Given the description of an element on the screen output the (x, y) to click on. 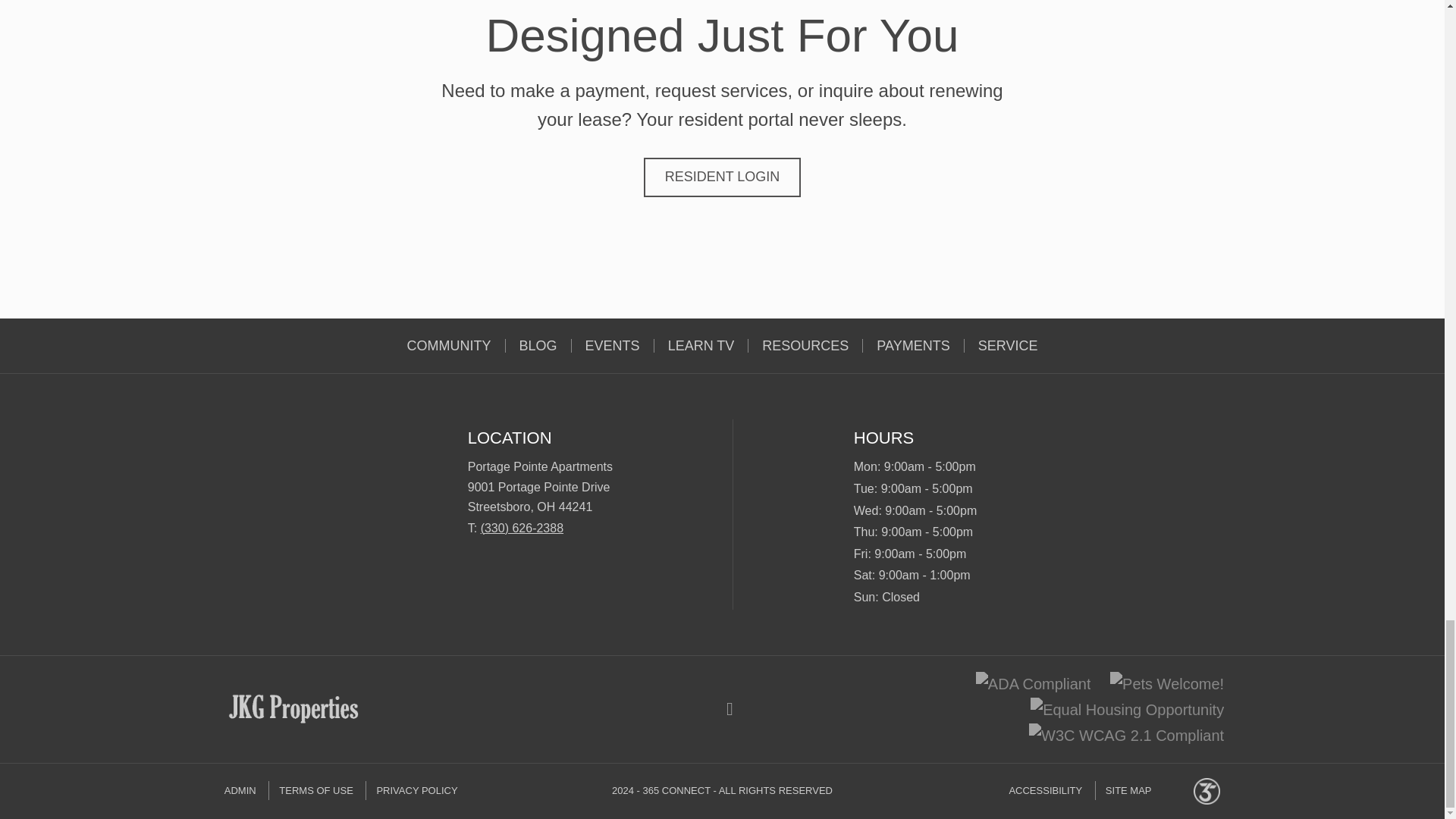
COMMUNITY (449, 345)
PAYMENTS (913, 345)
PRIVACY POLICY (416, 790)
LEARN TV (701, 345)
ADMIN (245, 790)
ACCESSIBILITY (1050, 790)
RESIDENT LOGIN (722, 177)
SERVICE (1007, 345)
SITE MAP (1127, 790)
RESOURCES (805, 345)
BLOG (538, 345)
TERMS OF USE (314, 790)
EVENTS (612, 345)
